Given the description of an element on the screen output the (x, y) to click on. 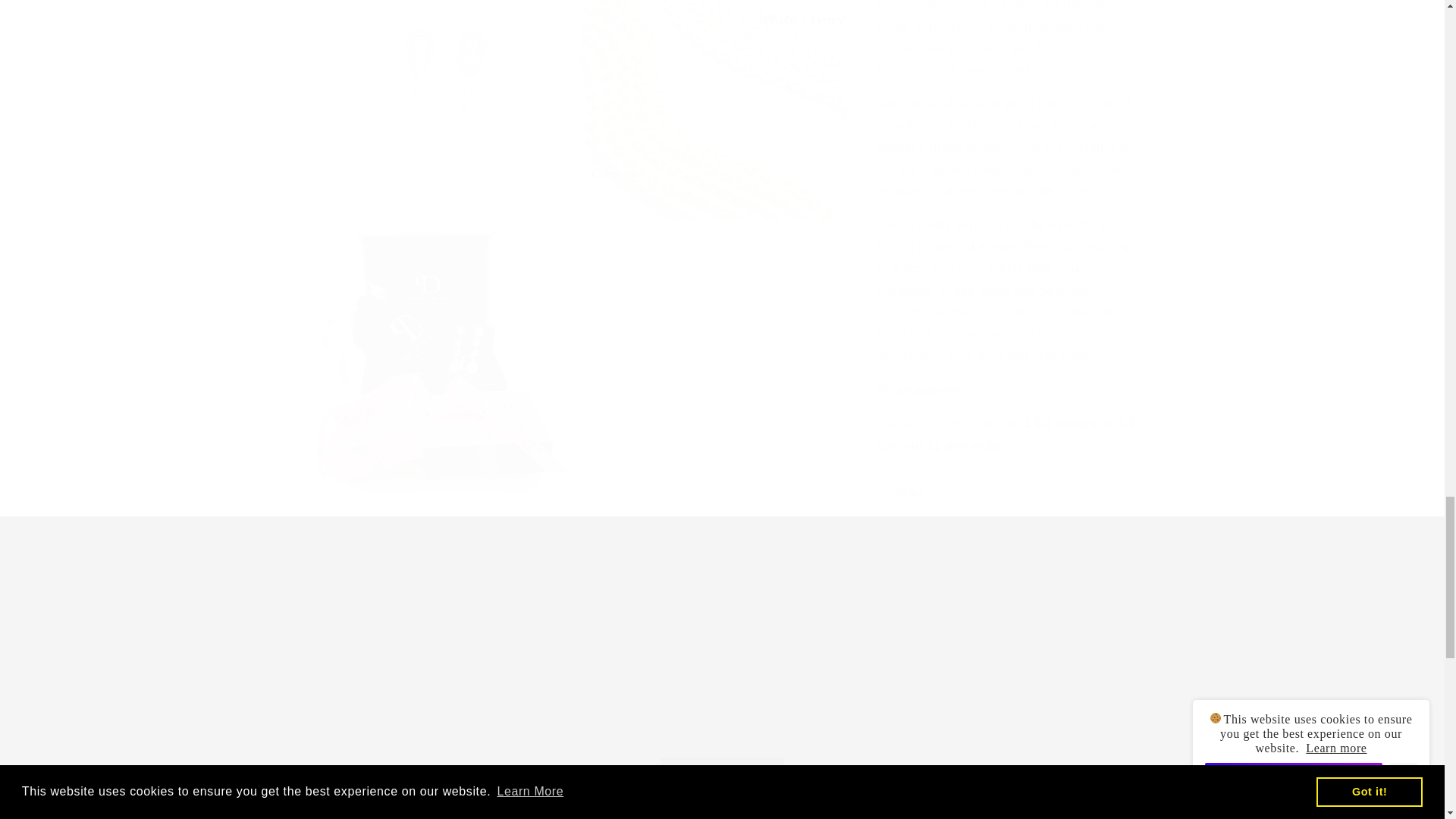
Open media 16 in modal (438, 345)
Open media 14 in modal (438, 103)
Open media 15 in modal (713, 103)
Frequently  Asked Question (926, 712)
